Given the description of an element on the screen output the (x, y) to click on. 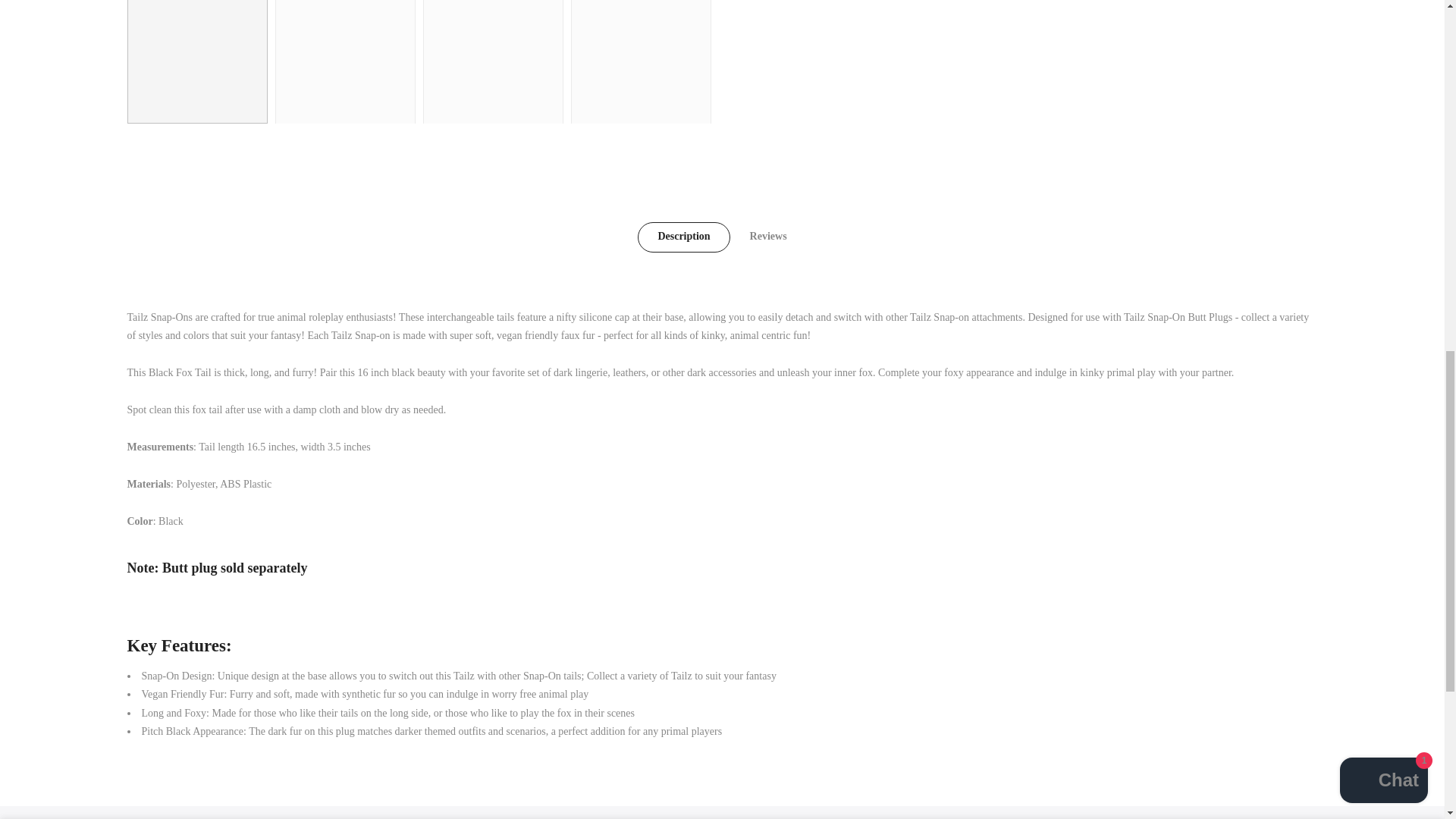
1 (1153, 35)
Description (683, 236)
Reviews (768, 236)
